Given the description of an element on the screen output the (x, y) to click on. 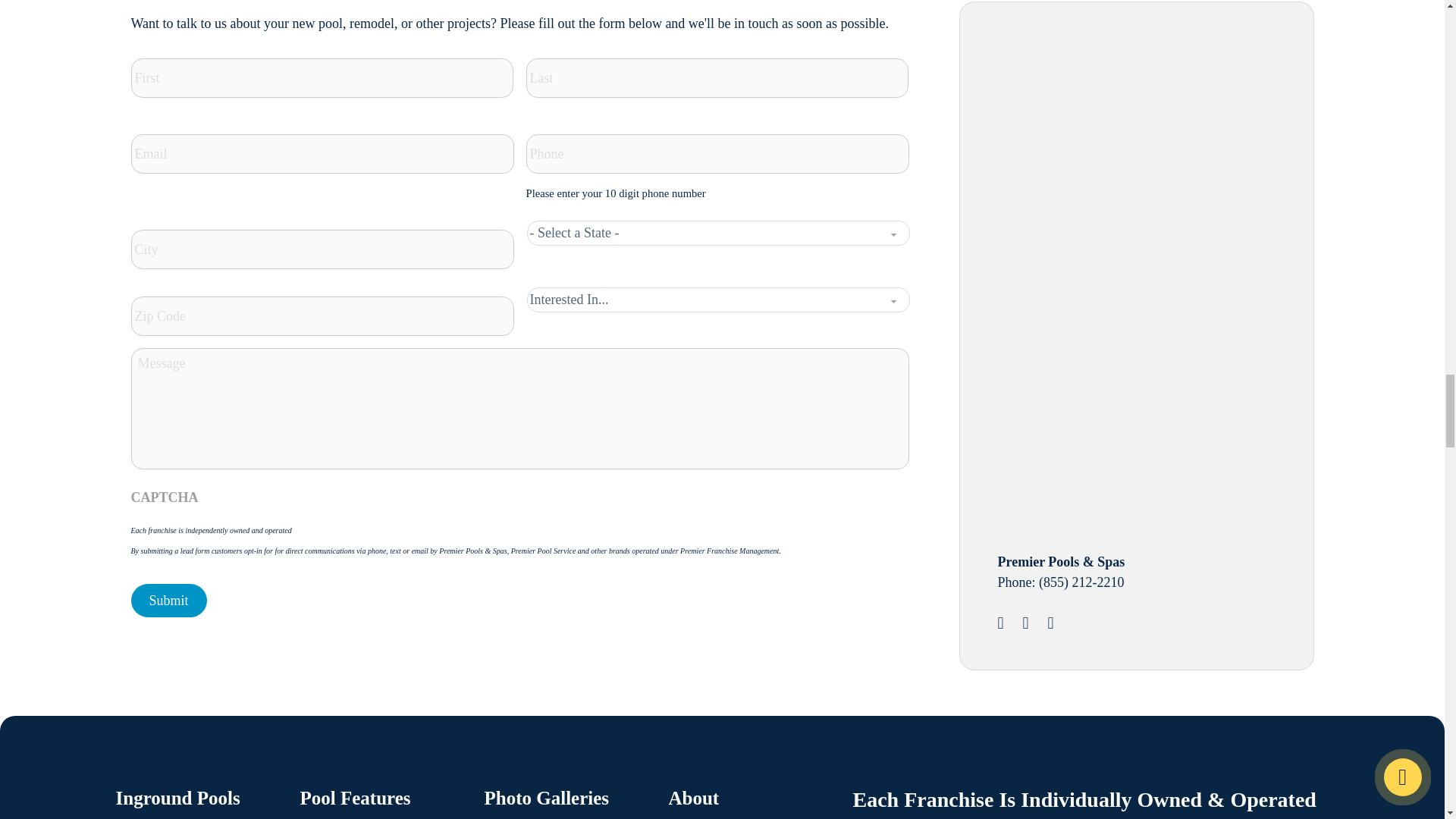
Design Your Pool (1111, 141)
Submit (168, 600)
Pool Financing (1111, 395)
